Given the description of an element on the screen output the (x, y) to click on. 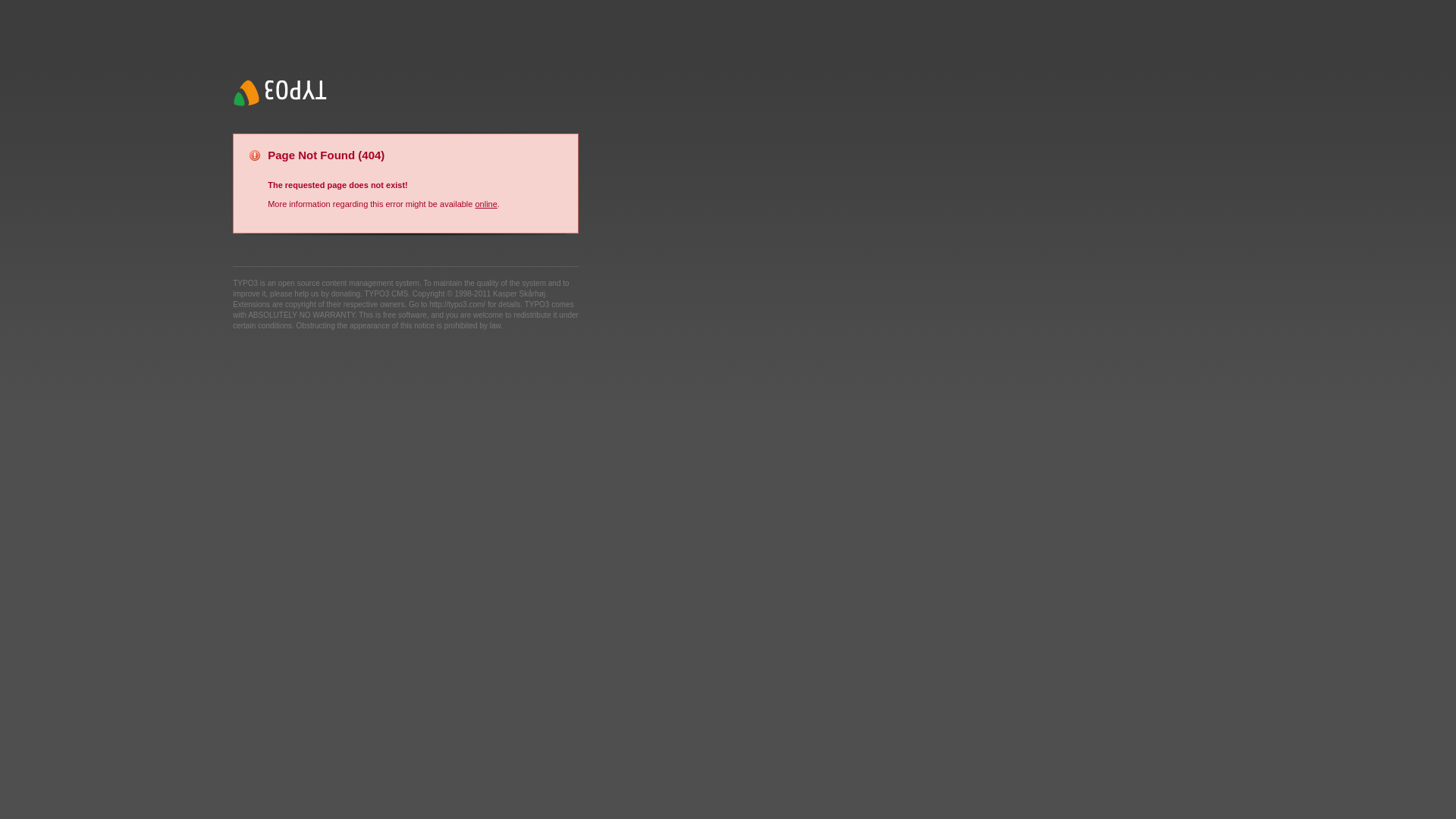
online Element type: text (485, 203)
